Given the description of an element on the screen output the (x, y) to click on. 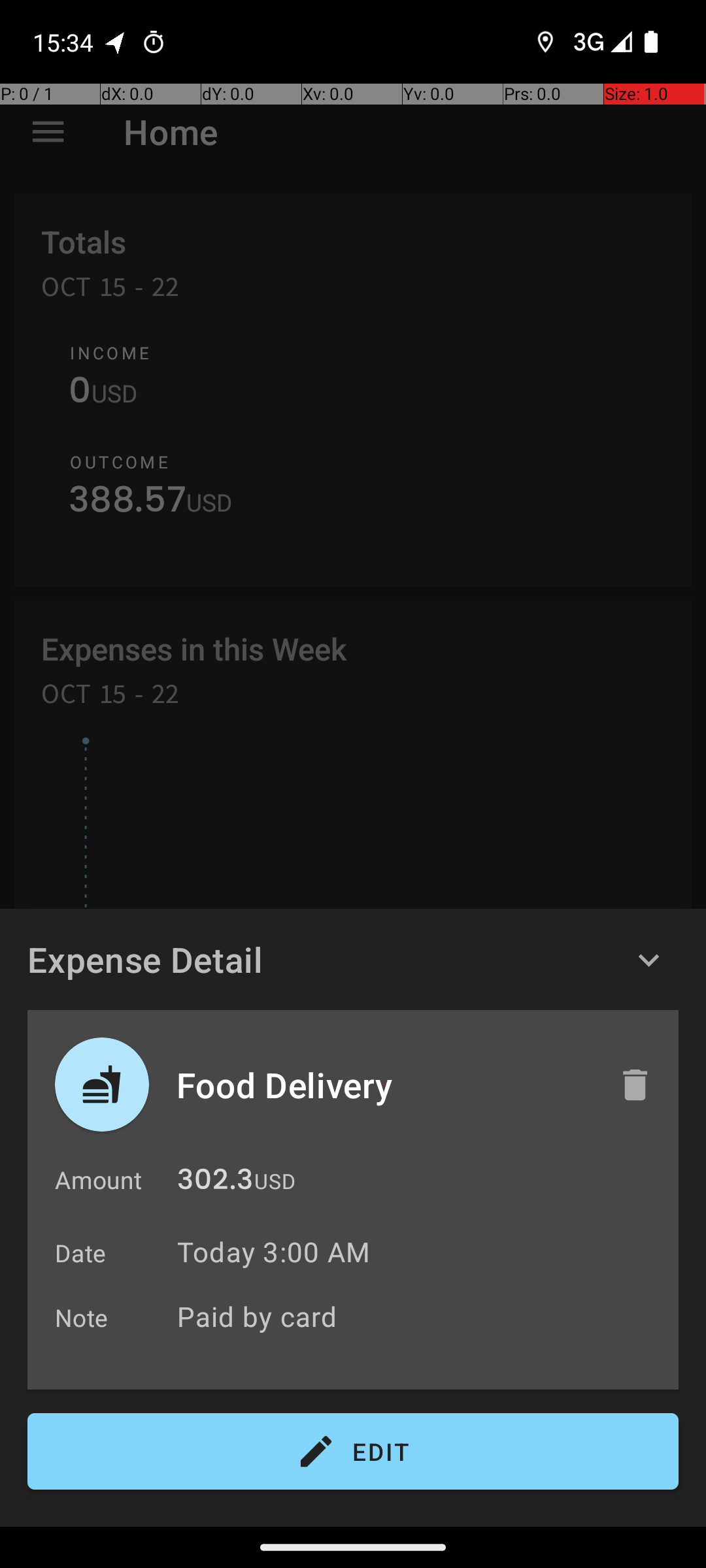
302.3 Element type: android.widget.TextView (214, 1182)
Today 3:00 AM Element type: android.widget.TextView (273, 1251)
